Given the description of an element on the screen output the (x, y) to click on. 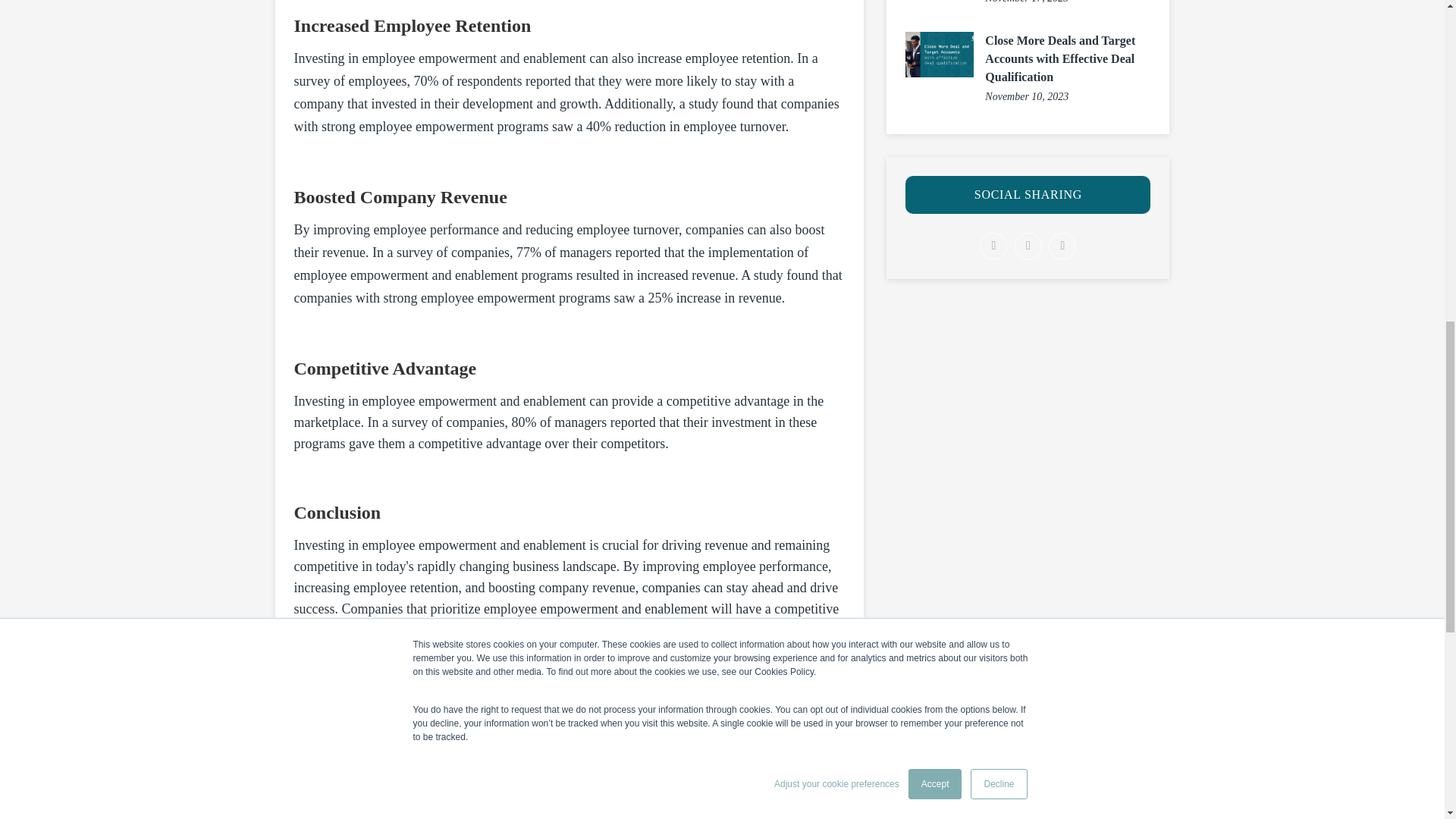
MENTOR GROUP (470, 784)
Share on Facebook (993, 246)
Tweet (1028, 246)
Share on LinkedIn (1061, 246)
